Given the description of an element on the screen output the (x, y) to click on. 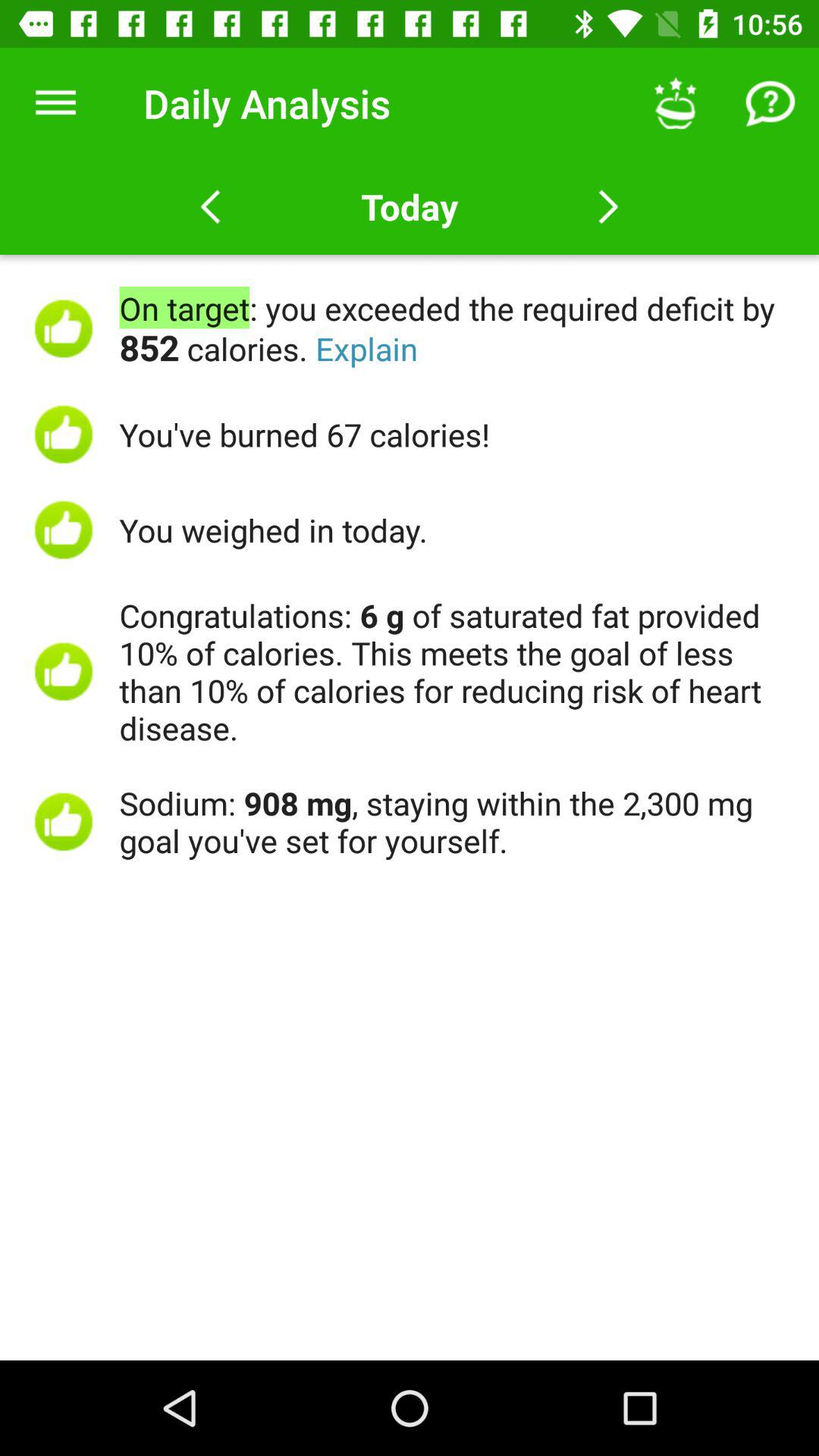
click the icon to the left of daily analysis icon (55, 103)
